Given the description of an element on the screen output the (x, y) to click on. 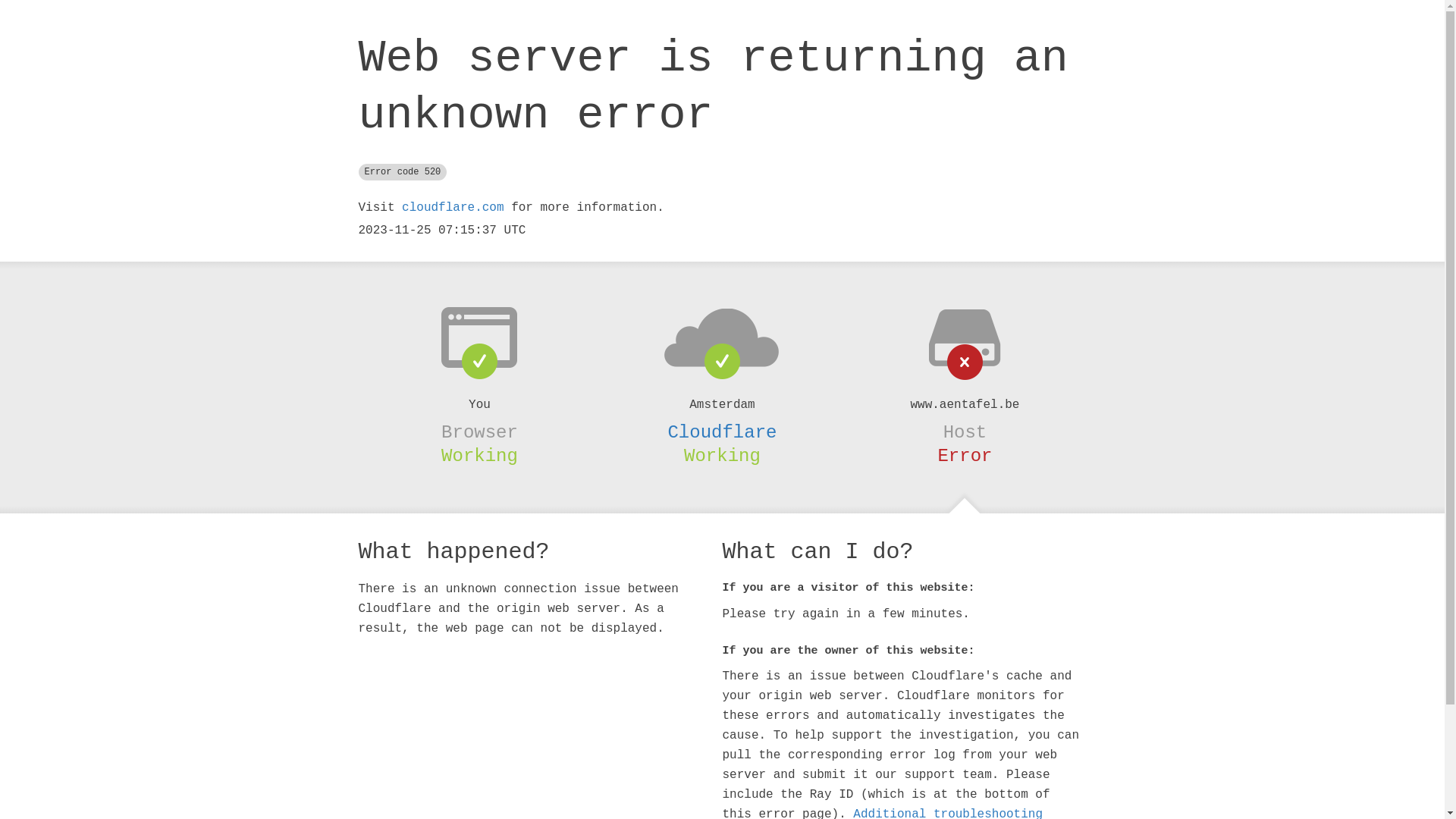
Cloudflare Element type: text (721, 432)
cloudflare.com Element type: text (452, 207)
